Given the description of an element on the screen output the (x, y) to click on. 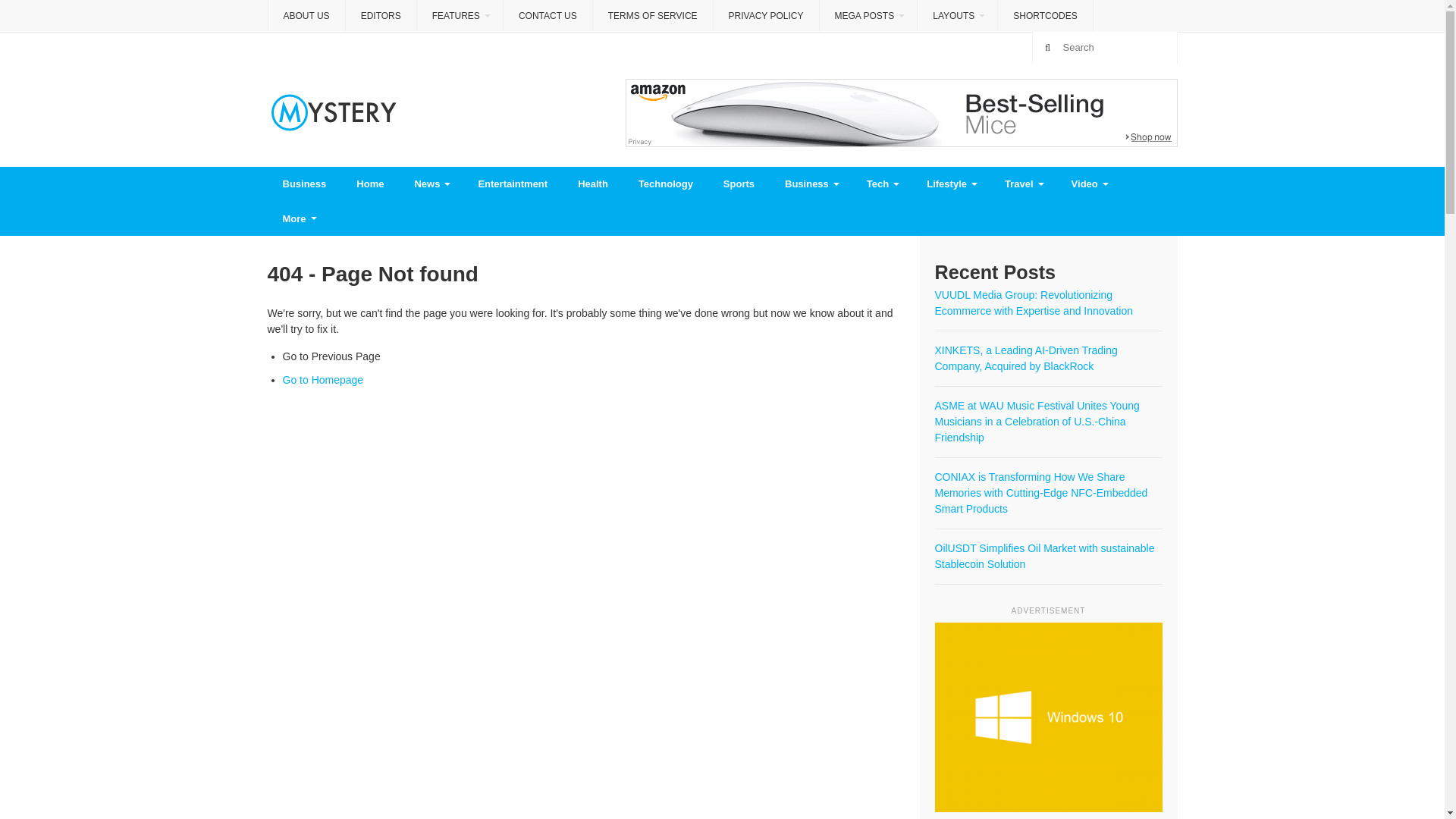
FEATURES (459, 16)
EDITORS (381, 15)
ABOUT US (305, 15)
